Given the description of an element on the screen output the (x, y) to click on. 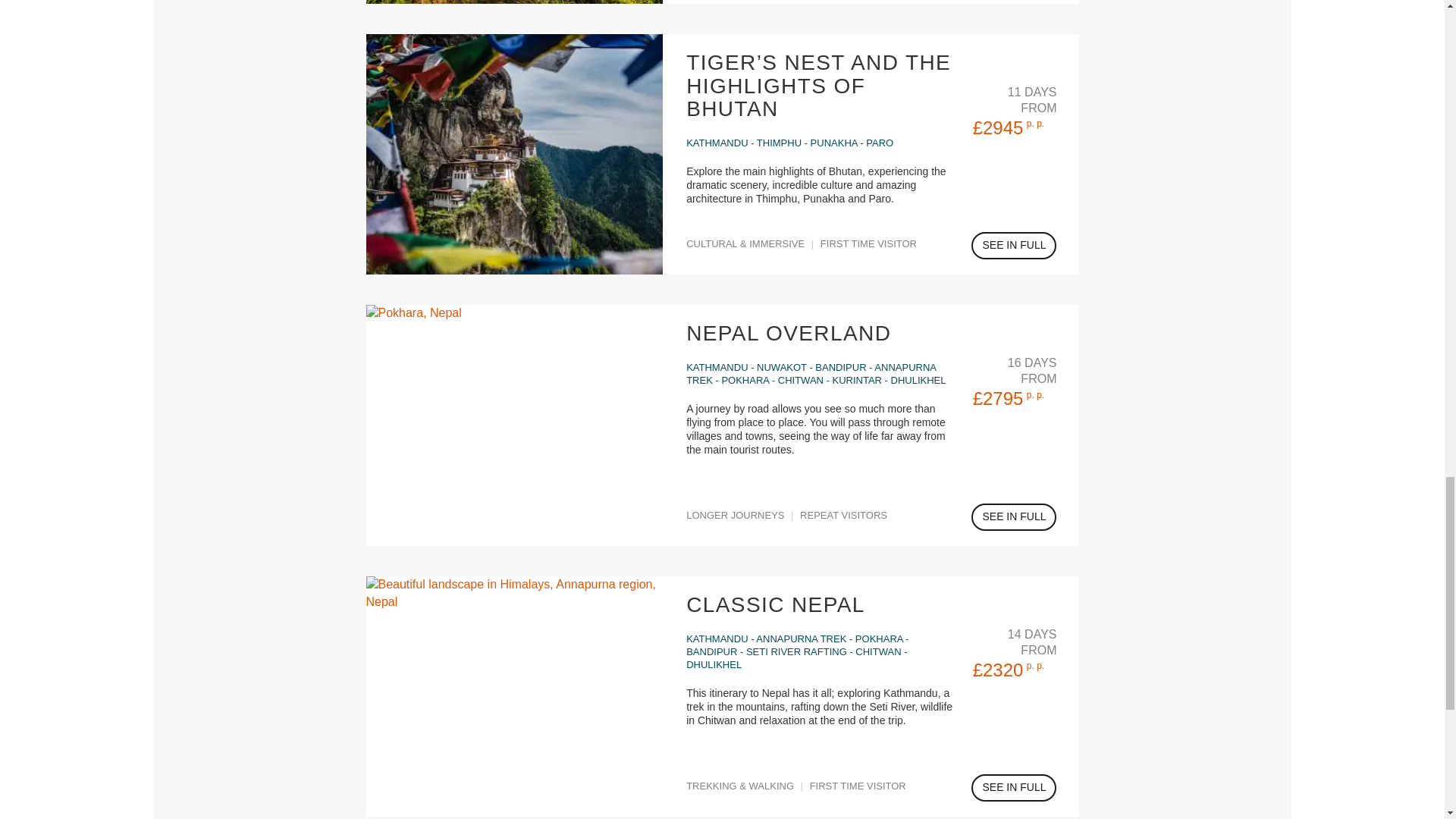
per person (1034, 394)
per person (1034, 122)
per person (1034, 665)
